Given the description of an element on the screen output the (x, y) to click on. 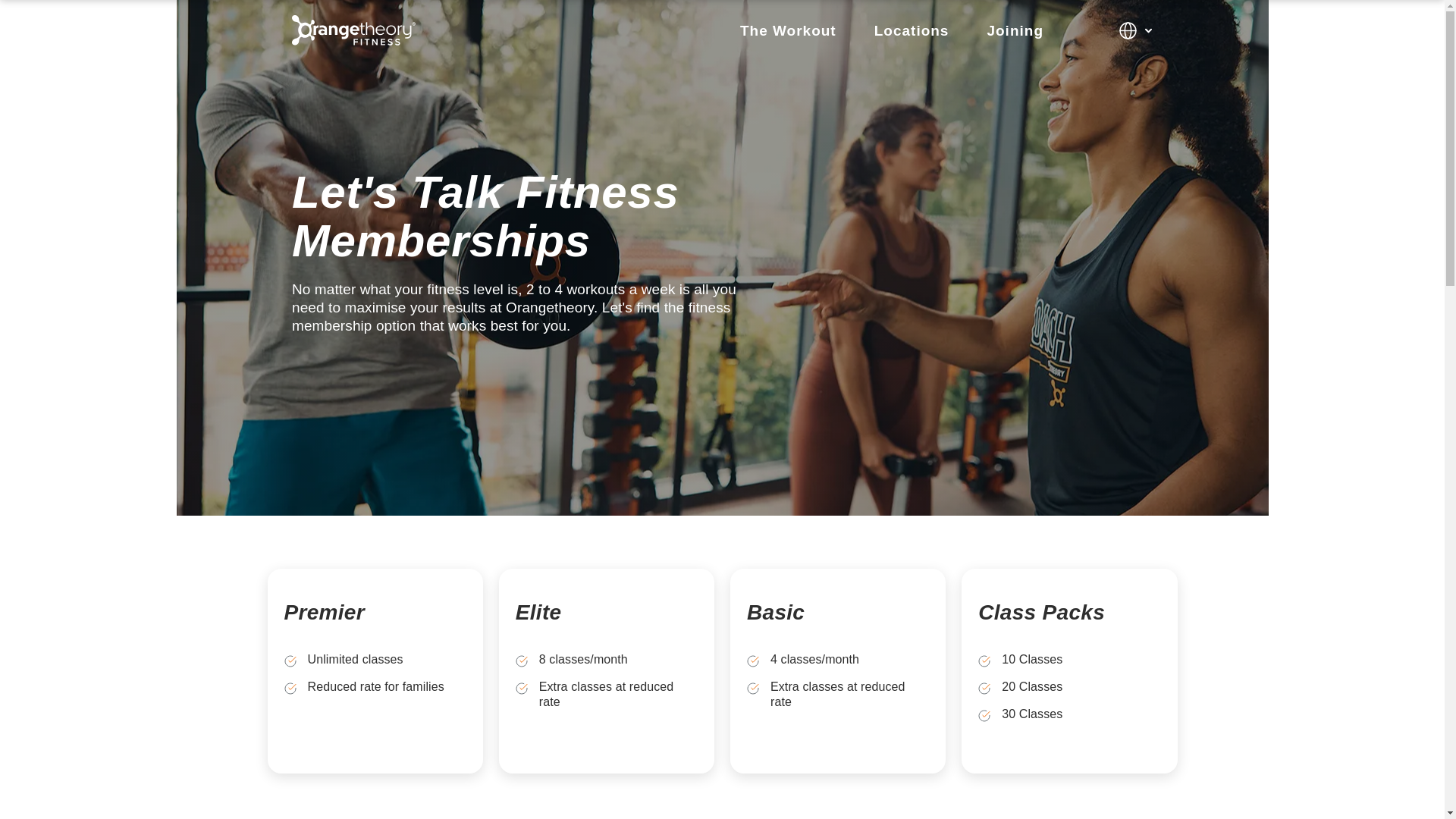
Joining (1015, 29)
The Workout (787, 29)
Locations (912, 29)
